Given the description of an element on the screen output the (x, y) to click on. 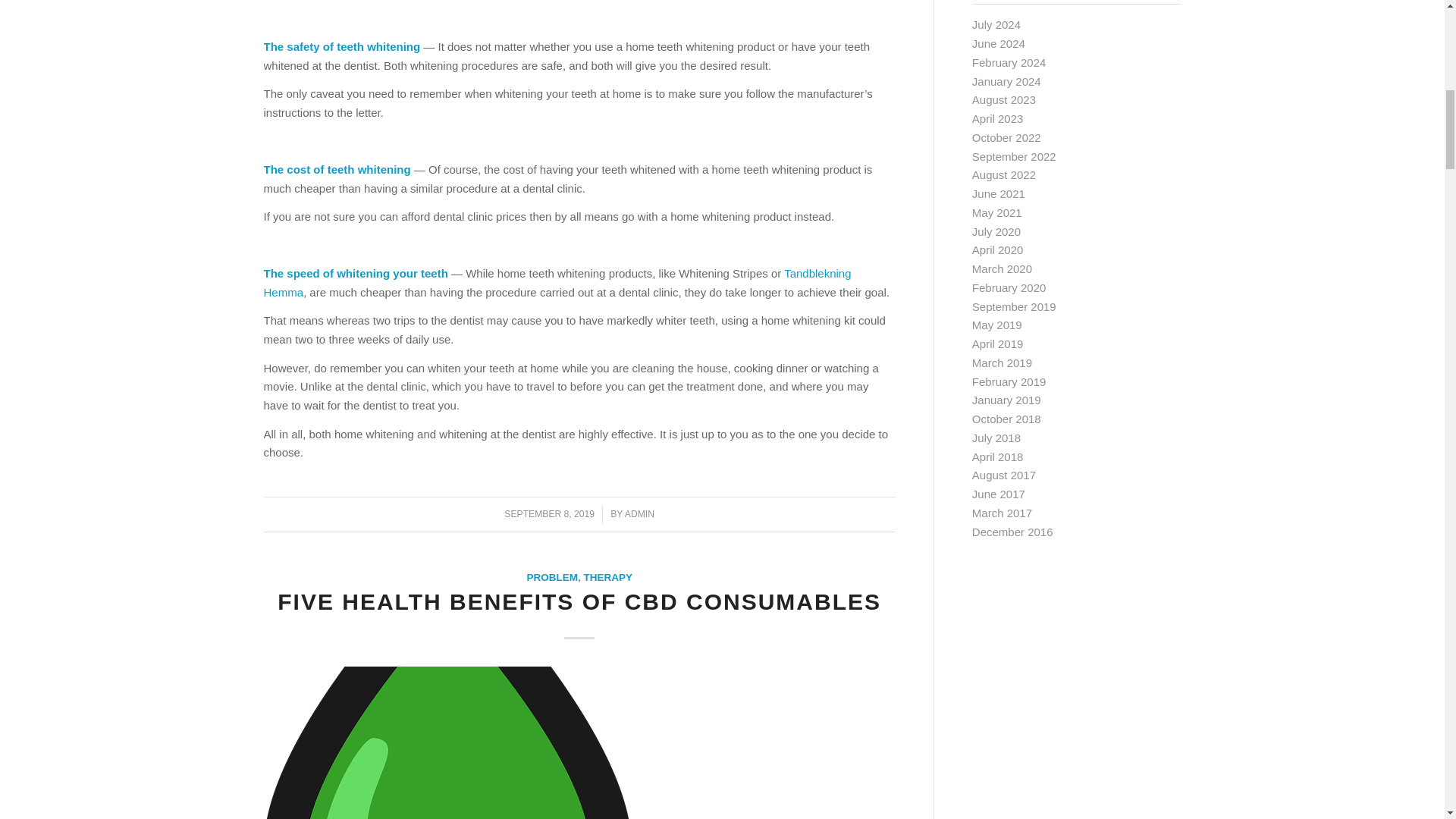
Five Health Benefits of CBD Consumables (579, 742)
Tandblekning Hemma (557, 282)
FIVE HEALTH BENEFITS OF CBD CONSUMABLES (579, 601)
Posts by admin (638, 513)
Permanent Link: Five Health Benefits of CBD Consumables (579, 601)
ADMIN (638, 513)
PROBLEM (551, 577)
THERAPY (607, 577)
